Given the description of an element on the screen output the (x, y) to click on. 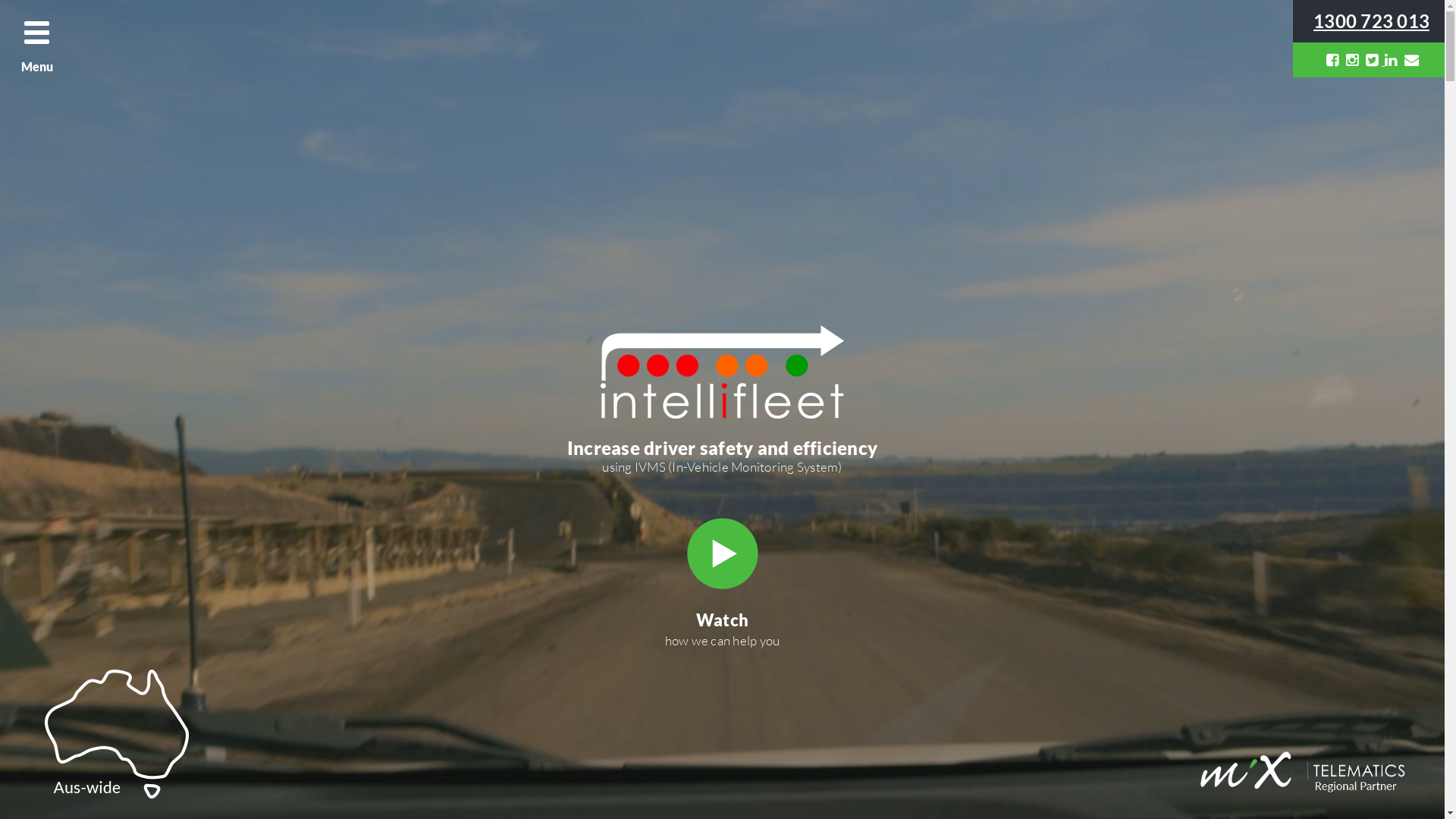
1300 723 013 Element type: text (1371, 20)
Menu Element type: text (37, 37)
Skip to main content Element type: text (56, 0)
  Element type: text (1391, 59)
  Element type: text (1354, 59)
  Element type: text (1373, 59)
  Element type: text (1334, 59)
  Element type: text (1413, 59)
